Given the description of an element on the screen output the (x, y) to click on. 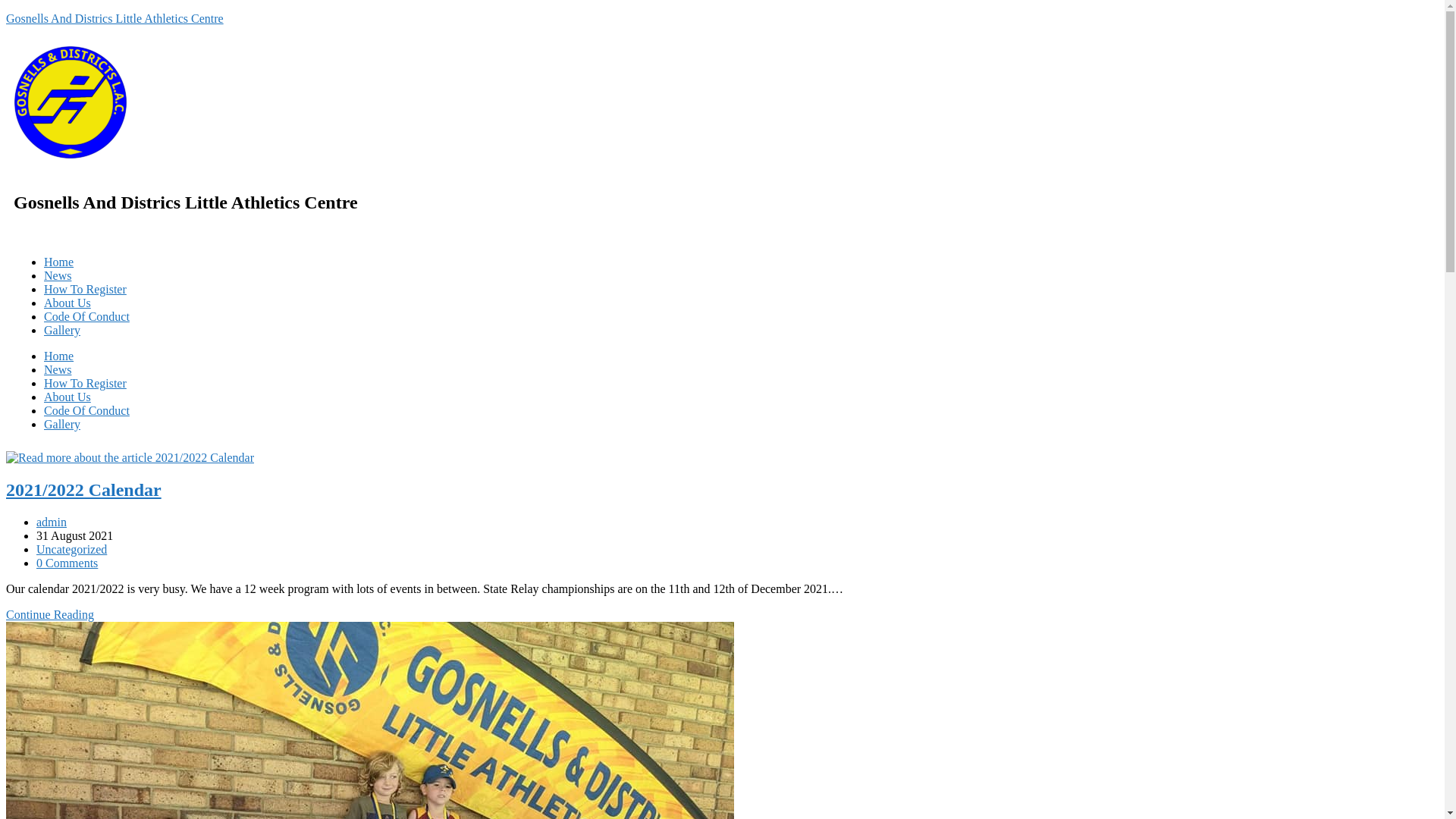
Uncategorized Element type: text (71, 548)
Skip to content Element type: text (5, 11)
2021/2022 Calendar Element type: text (83, 489)
Gallery Element type: text (61, 423)
Code Of Conduct Element type: text (86, 410)
Home Element type: text (58, 261)
Gallery Element type: text (61, 329)
How To Register Element type: text (84, 382)
admin Element type: text (51, 521)
Continue Reading
2021/2022 Calendar Element type: text (50, 614)
Code Of Conduct Element type: text (86, 316)
About Us Element type: text (67, 396)
About Us Element type: text (67, 302)
Gosnells And Districs Little Athletics Centre Element type: text (114, 18)
How To Register Element type: text (84, 288)
News Element type: text (57, 275)
News Element type: text (57, 369)
0 Comments Element type: text (66, 562)
Home Element type: text (58, 355)
